Given the description of an element on the screen output the (x, y) to click on. 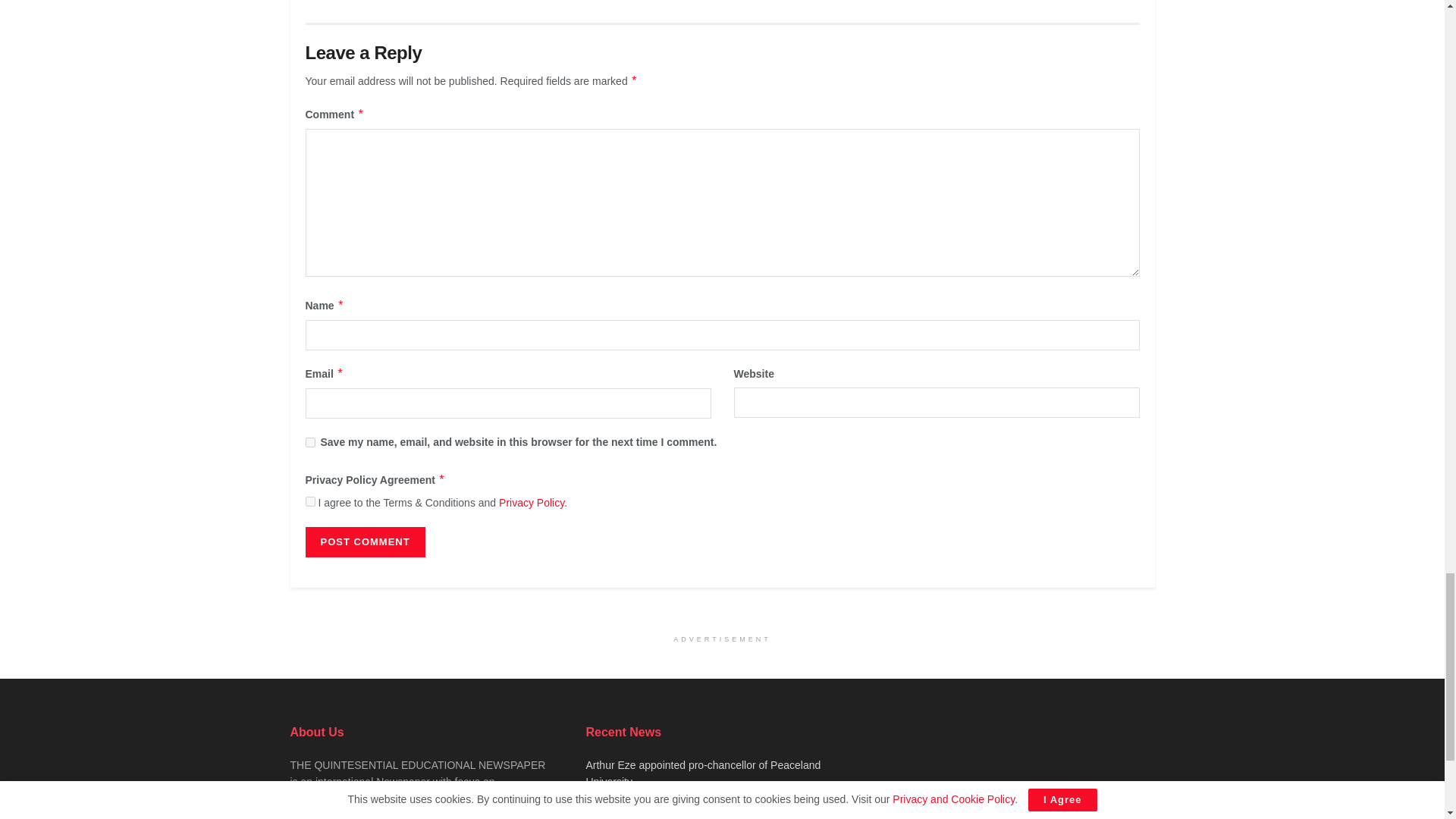
Post Comment (364, 541)
on (309, 501)
yes (309, 442)
